Given the description of an element on the screen output the (x, y) to click on. 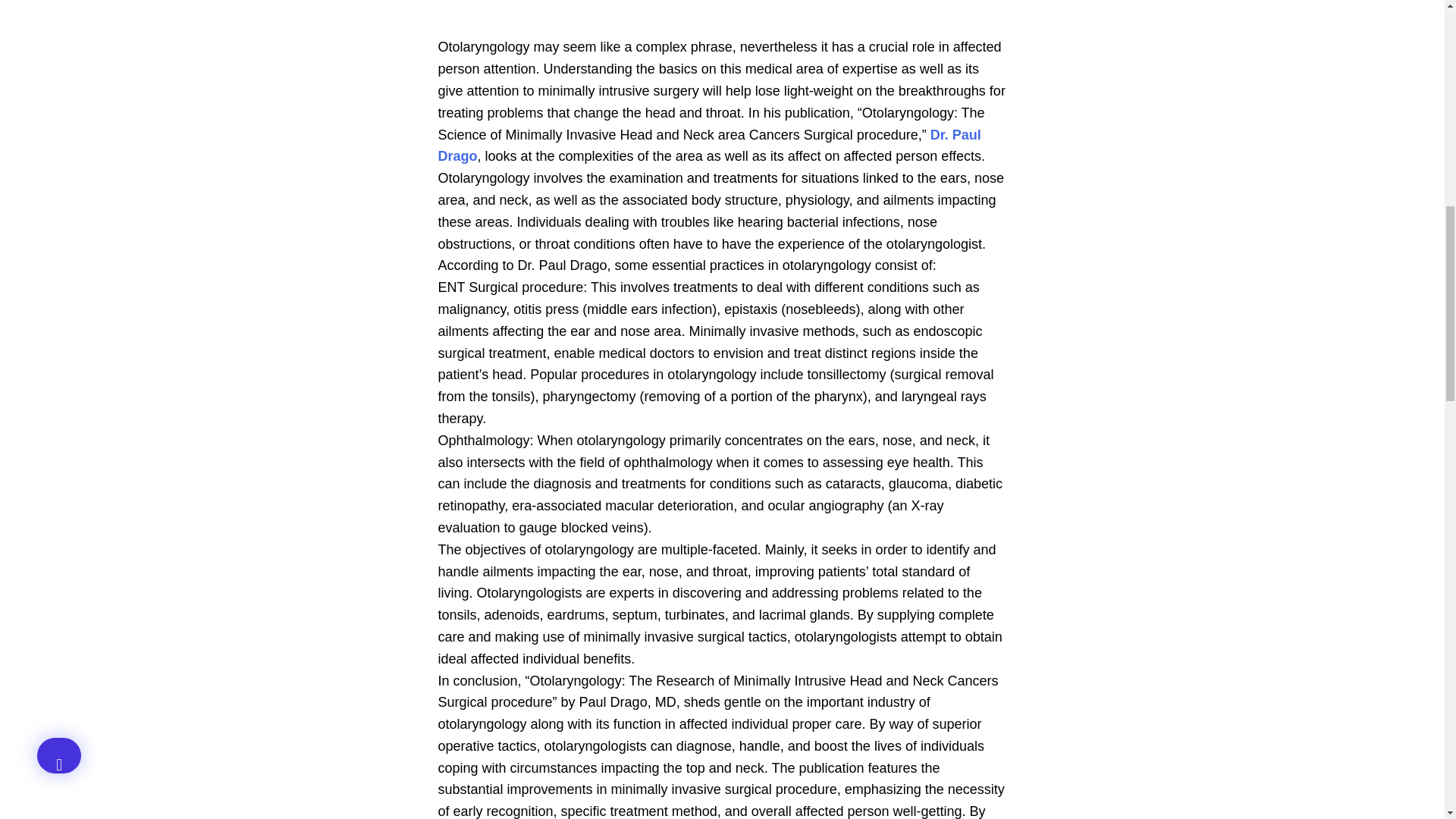
Dr. Paul Drago (709, 145)
